Given the description of an element on the screen output the (x, y) to click on. 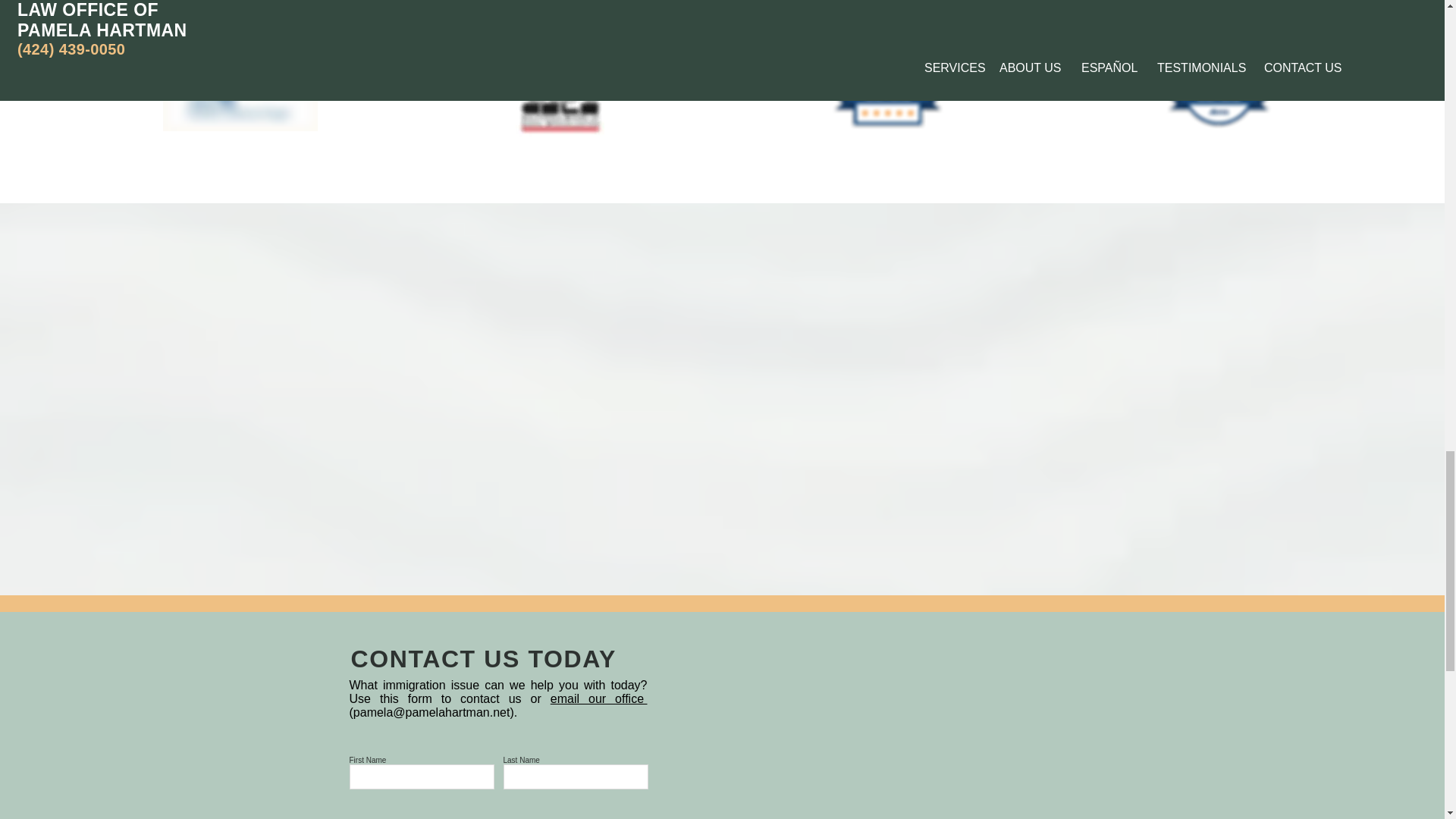
email our office  (598, 698)
